Given the description of an element on the screen output the (x, y) to click on. 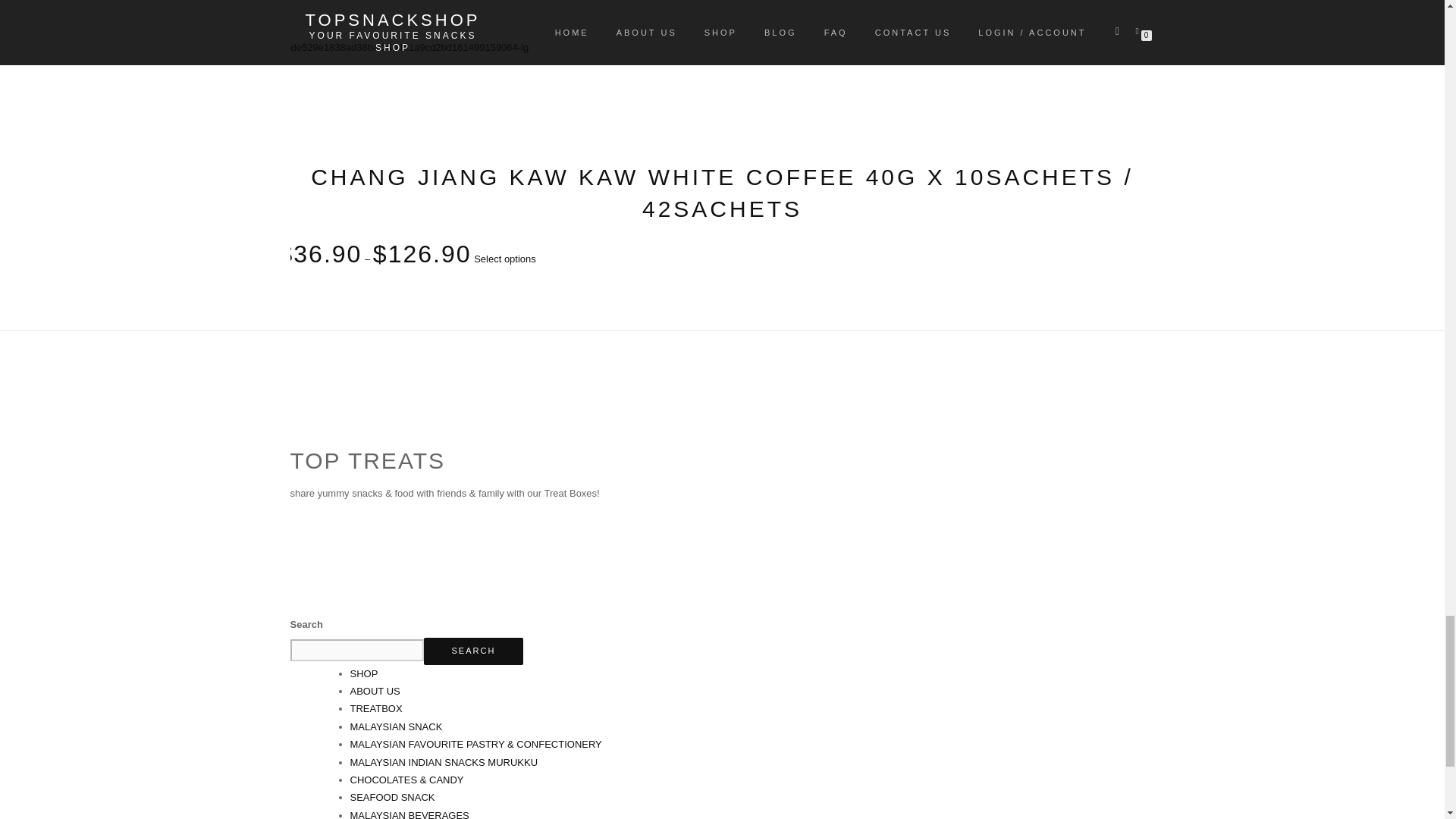
Select options (504, 258)
de529e1838ad38baf180441a9cd2bd161499159064-lg (404, 47)
